Given the description of an element on the screen output the (x, y) to click on. 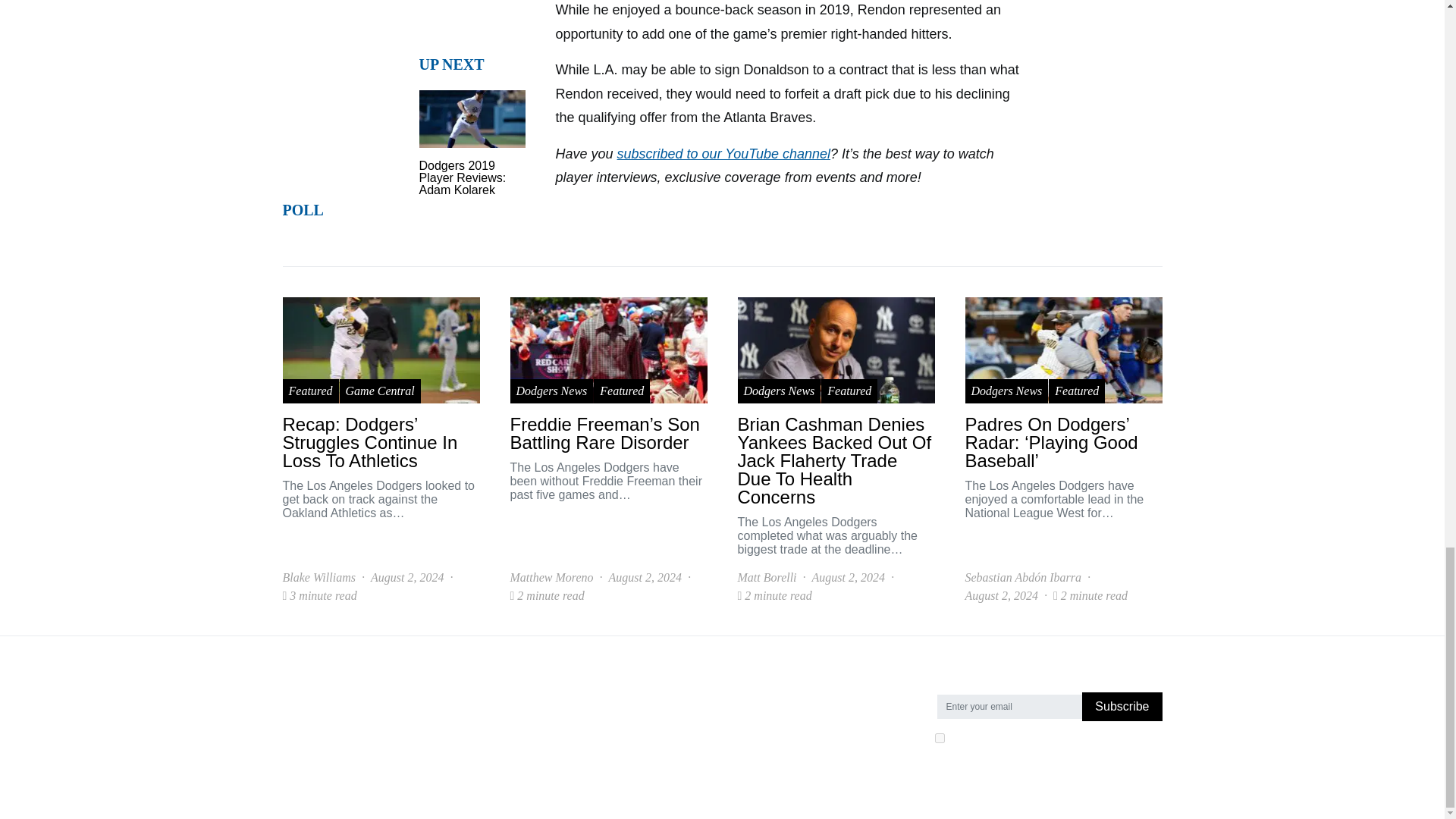
View all posts by Matt Borelli (766, 577)
View all posts by Matthew Moreno (550, 577)
on (938, 737)
View all posts by Blake Williams (318, 577)
